Given the description of an element on the screen output the (x, y) to click on. 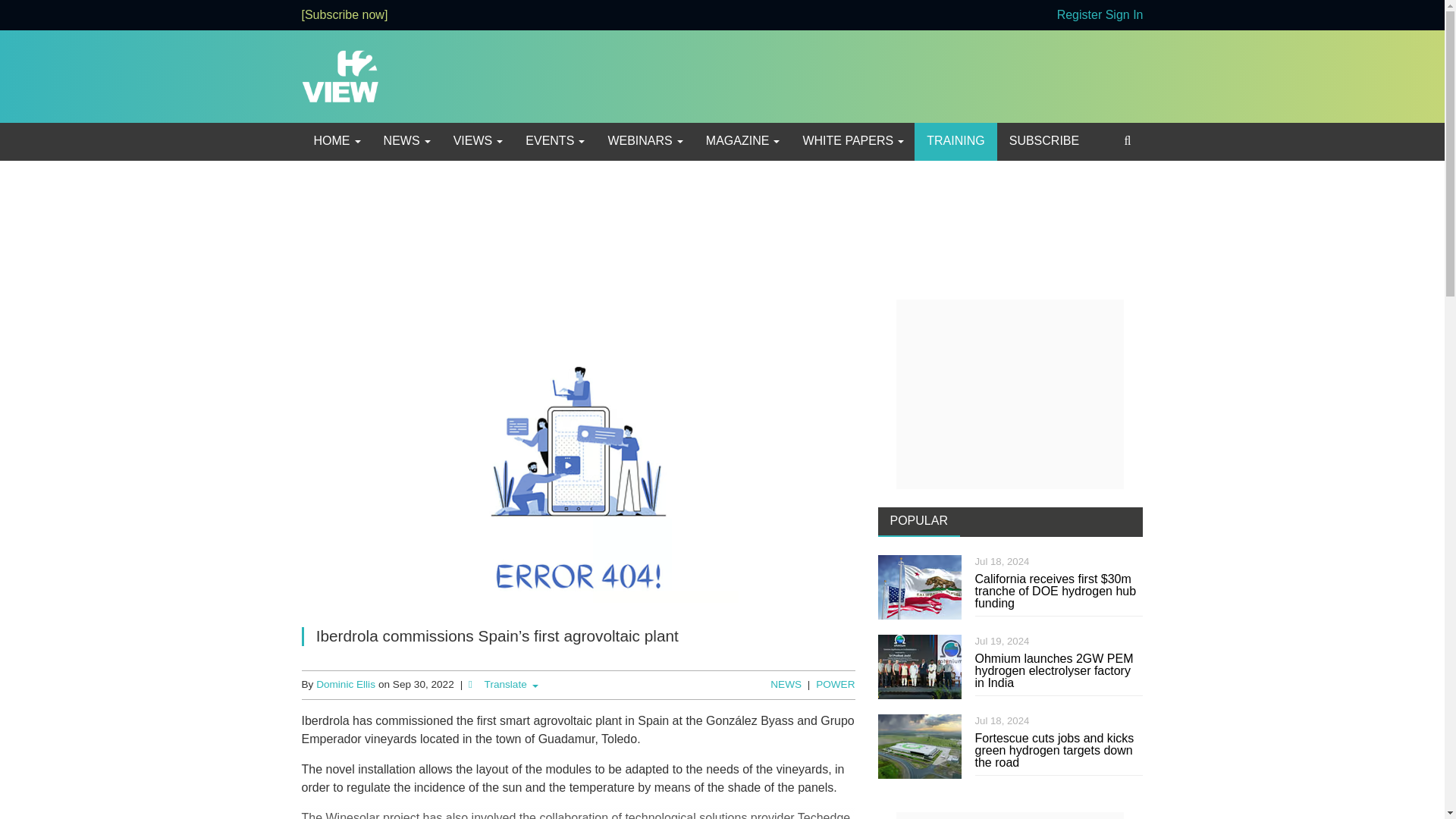
NEWS (406, 140)
Register now (1079, 14)
Sign in now (1123, 14)
Sign In (1123, 14)
H2 View (339, 74)
Become a member today (344, 14)
HOME (336, 140)
Home (336, 140)
News (406, 140)
Register (1079, 14)
